Given the description of an element on the screen output the (x, y) to click on. 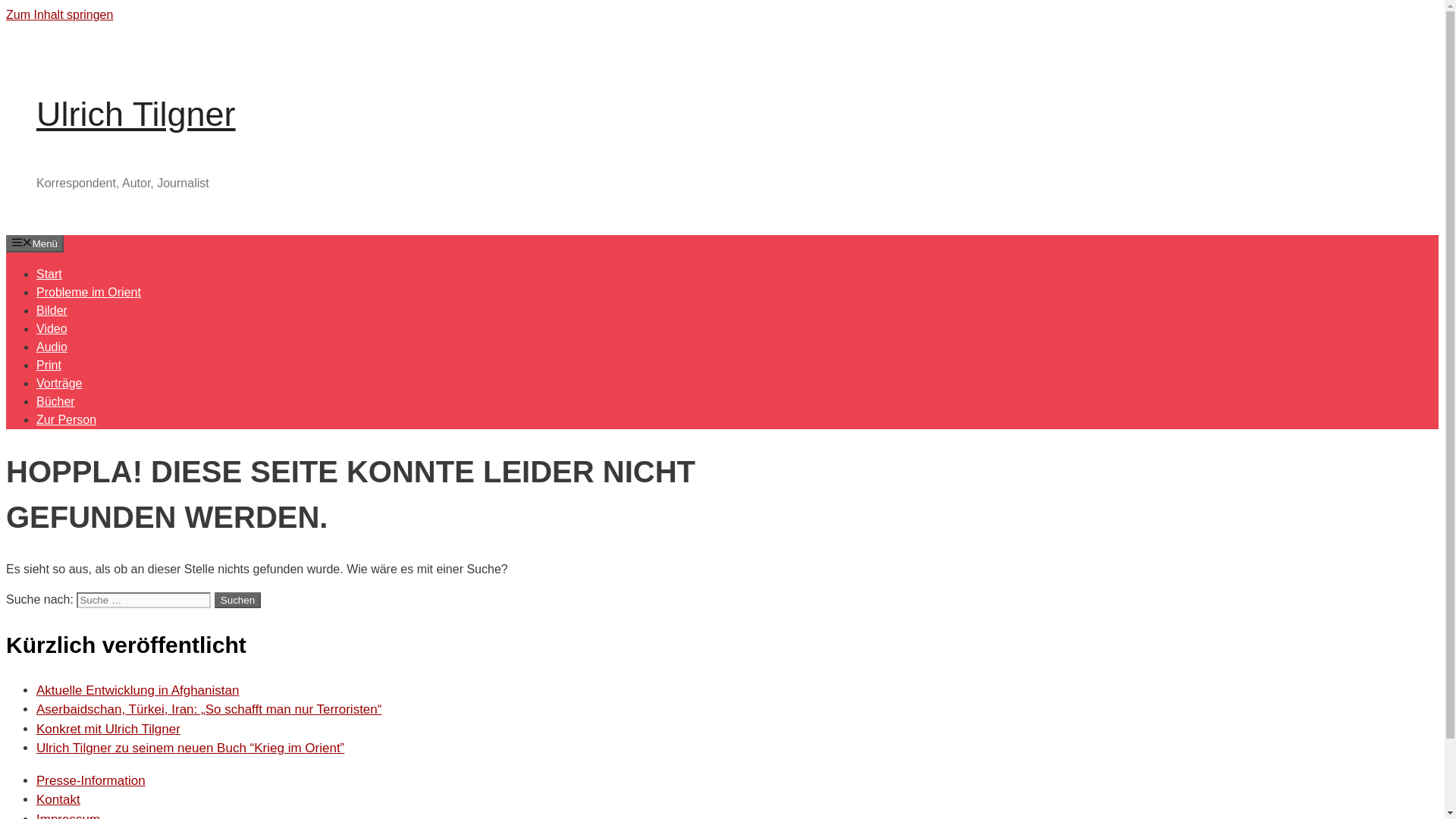
Kontakt (58, 799)
Impressum (68, 815)
Print (48, 364)
Ulrich Tilgner (135, 114)
Start (49, 273)
Zur Person (66, 418)
Zum Inhalt springen (59, 14)
Suchen (237, 600)
Suchen (237, 600)
Aktuelle Entwicklung in Afghanistan (137, 690)
